Given the description of an element on the screen output the (x, y) to click on. 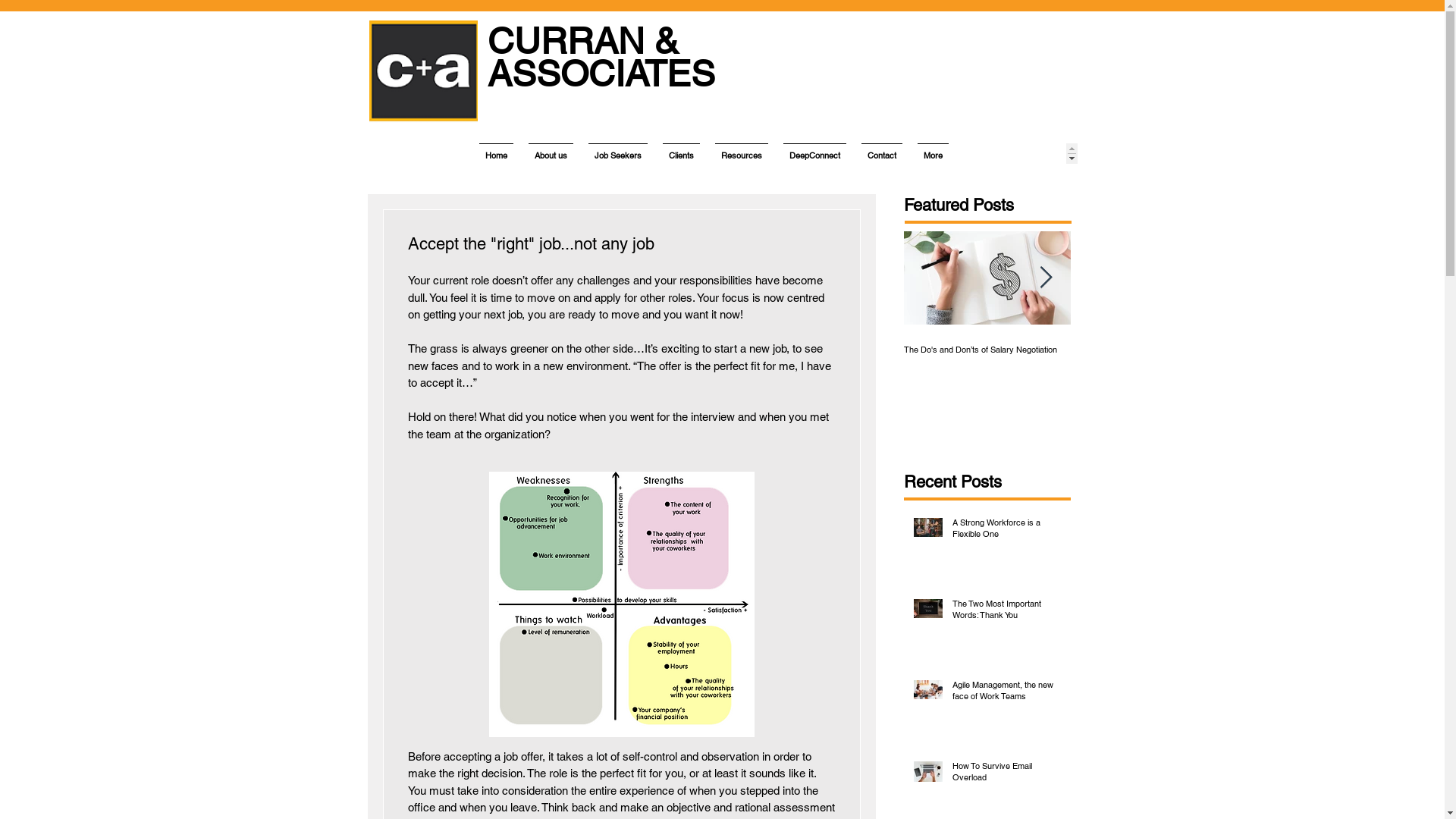
A Strong Workforce is a Flexible One Element type: text (1006, 531)
You Are Ready For a Promotion...What to Do About It Element type: text (1153, 354)
DeepConnect Element type: text (814, 153)
Don't Let Your Work-Life Balance Age In This Digital Era Element type: text (1320, 354)
How To Survive Email Overload Element type: text (1006, 775)
Contact Element type: text (881, 153)
Agile Management, the new face of Work Teams Element type: text (1006, 694)
Clients Element type: text (681, 153)
Resources Element type: text (741, 153)
Home Element type: text (495, 153)
ASSOCIATES Element type: text (600, 73)
CURRAN & Element type: text (581, 40)
About us Element type: text (550, 153)
The Two Most Important Words: Thank You Element type: text (1006, 612)
